Given the description of an element on the screen output the (x, y) to click on. 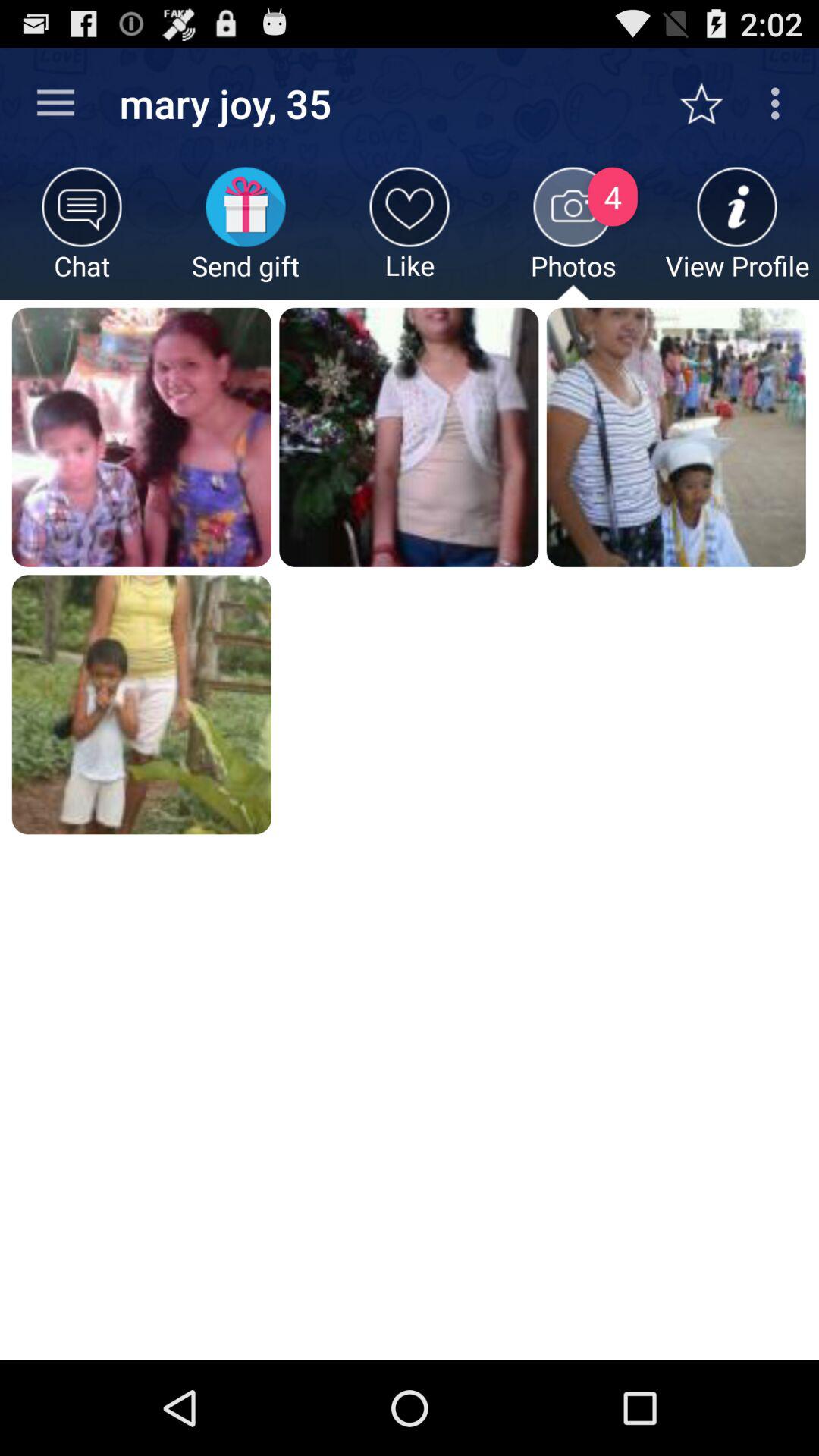
tap the item to the left of mary joy, 35 (55, 103)
